Given the description of an element on the screen output the (x, y) to click on. 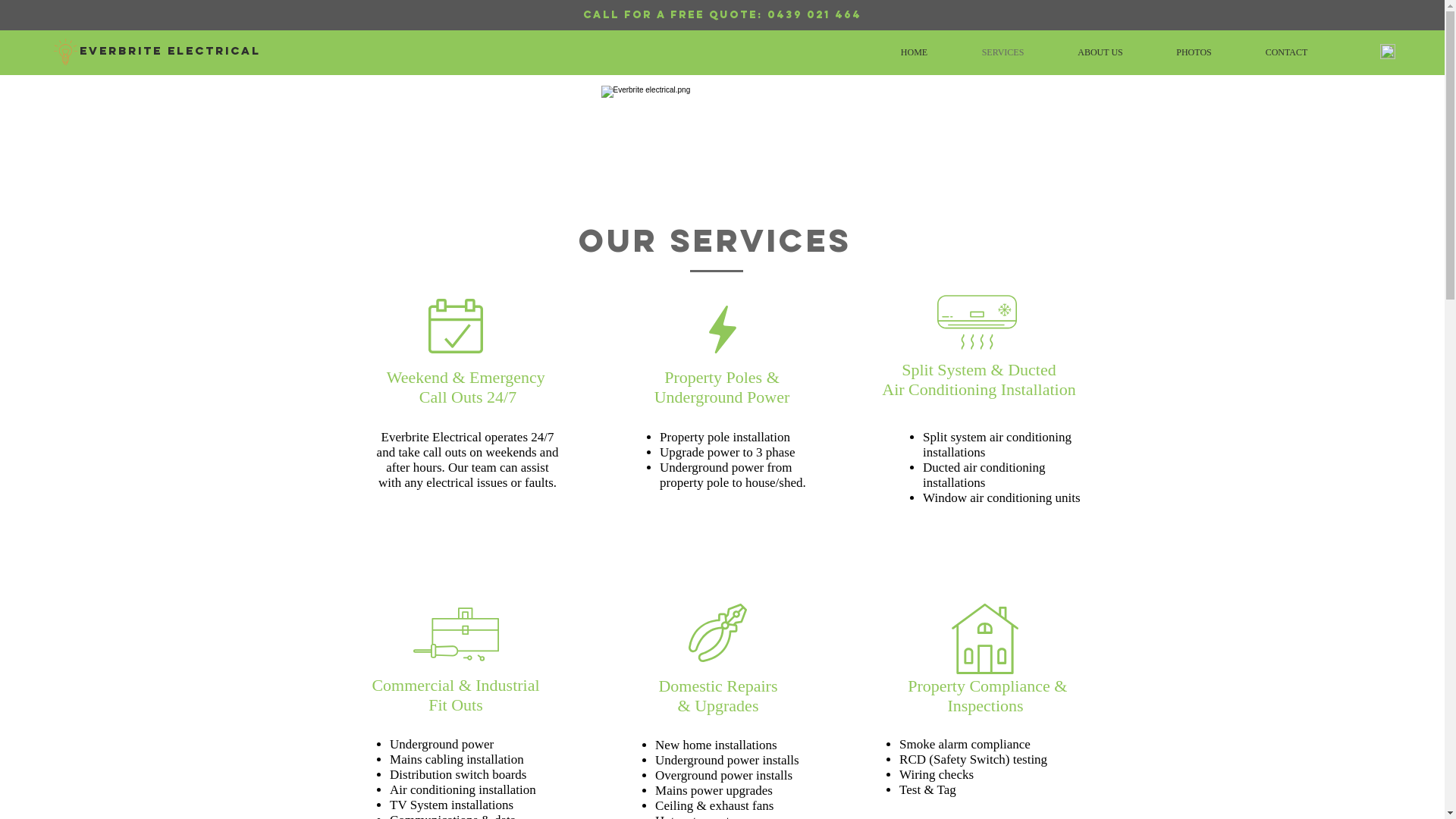
ABOUT US Element type: text (1100, 52)
HOME Element type: text (913, 52)
Everbrite Electrical Element type: text (169, 51)
SERVICES Element type: text (1002, 52)
CONTACT Element type: text (1286, 52)
PHOTOS Element type: text (1193, 52)
